Given the description of an element on the screen output the (x, y) to click on. 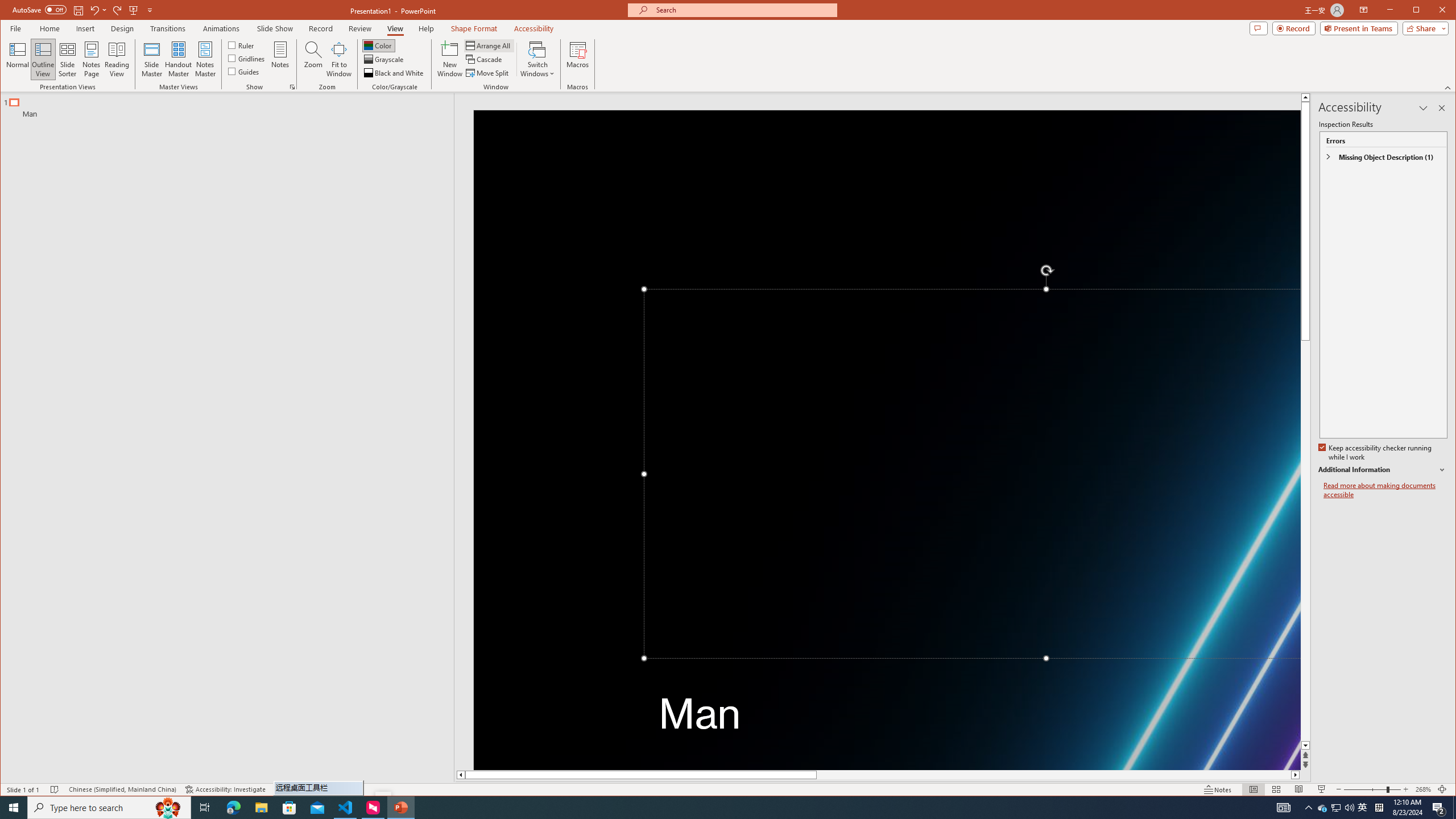
Cascade (484, 59)
Color (378, 45)
Notes (279, 59)
